Given the description of an element on the screen output the (x, y) to click on. 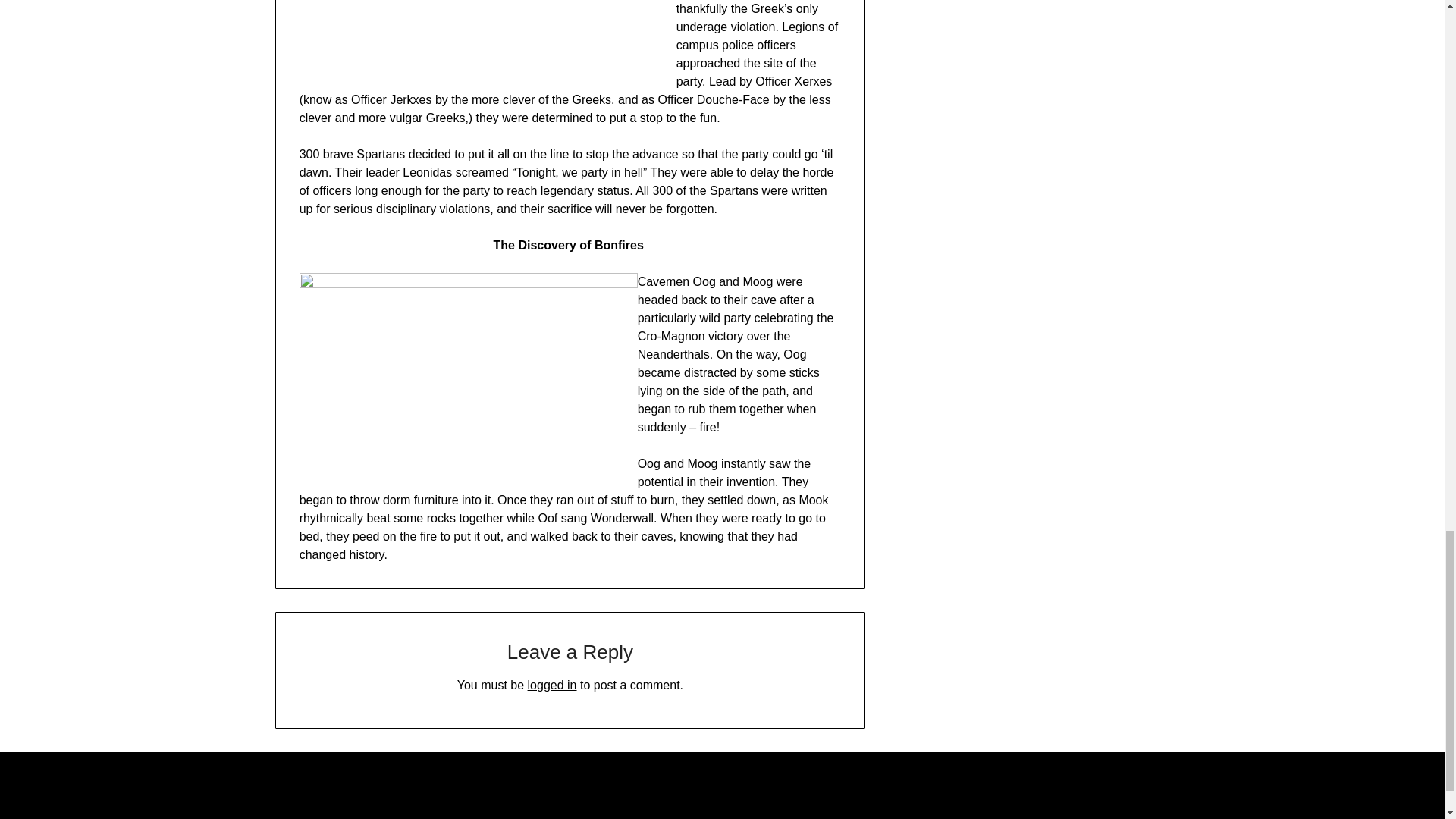
fire! (468, 379)
sparta (478, 44)
logged in (551, 684)
